Given the description of an element on the screen output the (x, y) to click on. 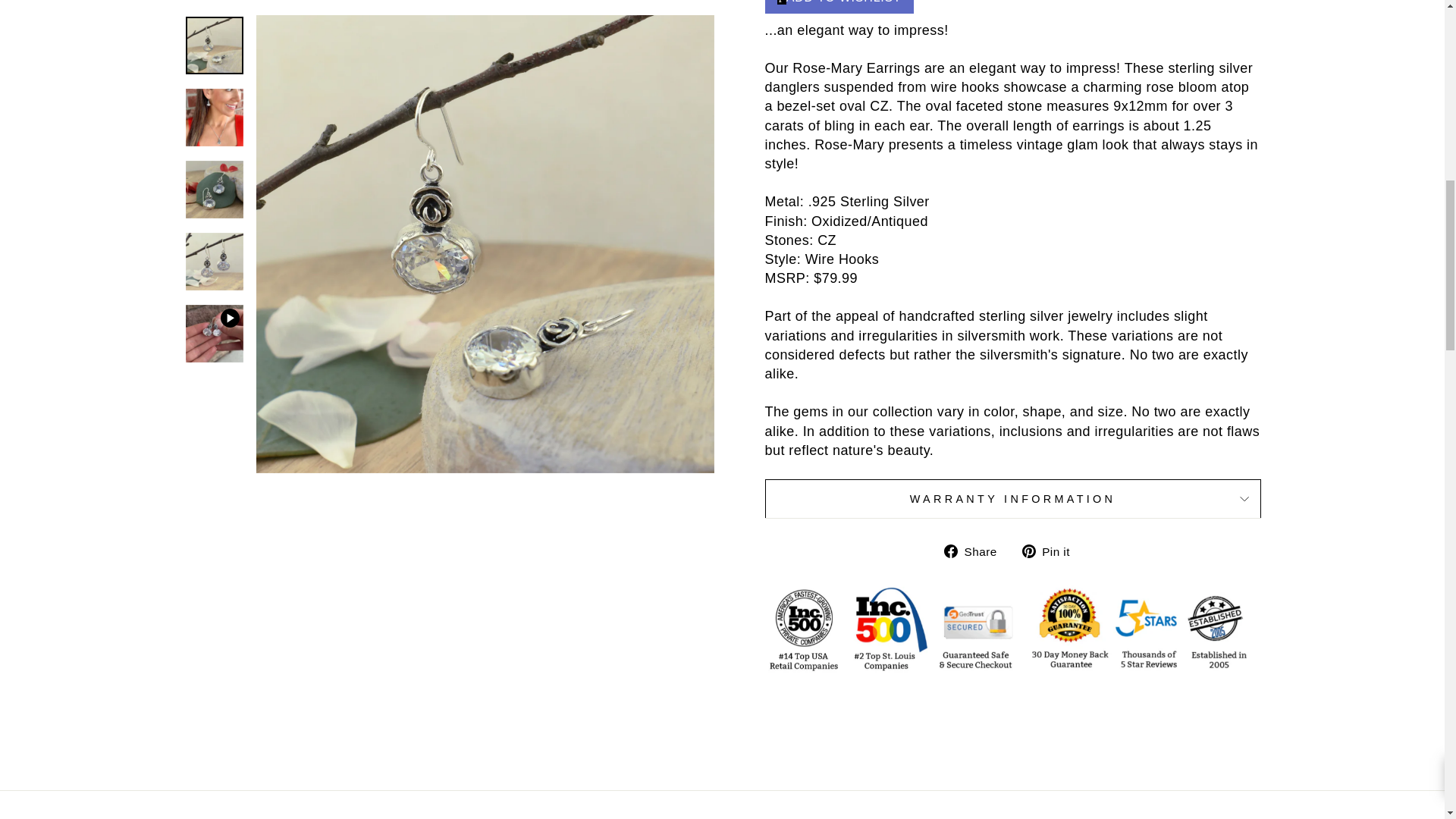
Pin on Pinterest (1051, 550)
Share on Facebook (976, 550)
